Given the description of an element on the screen output the (x, y) to click on. 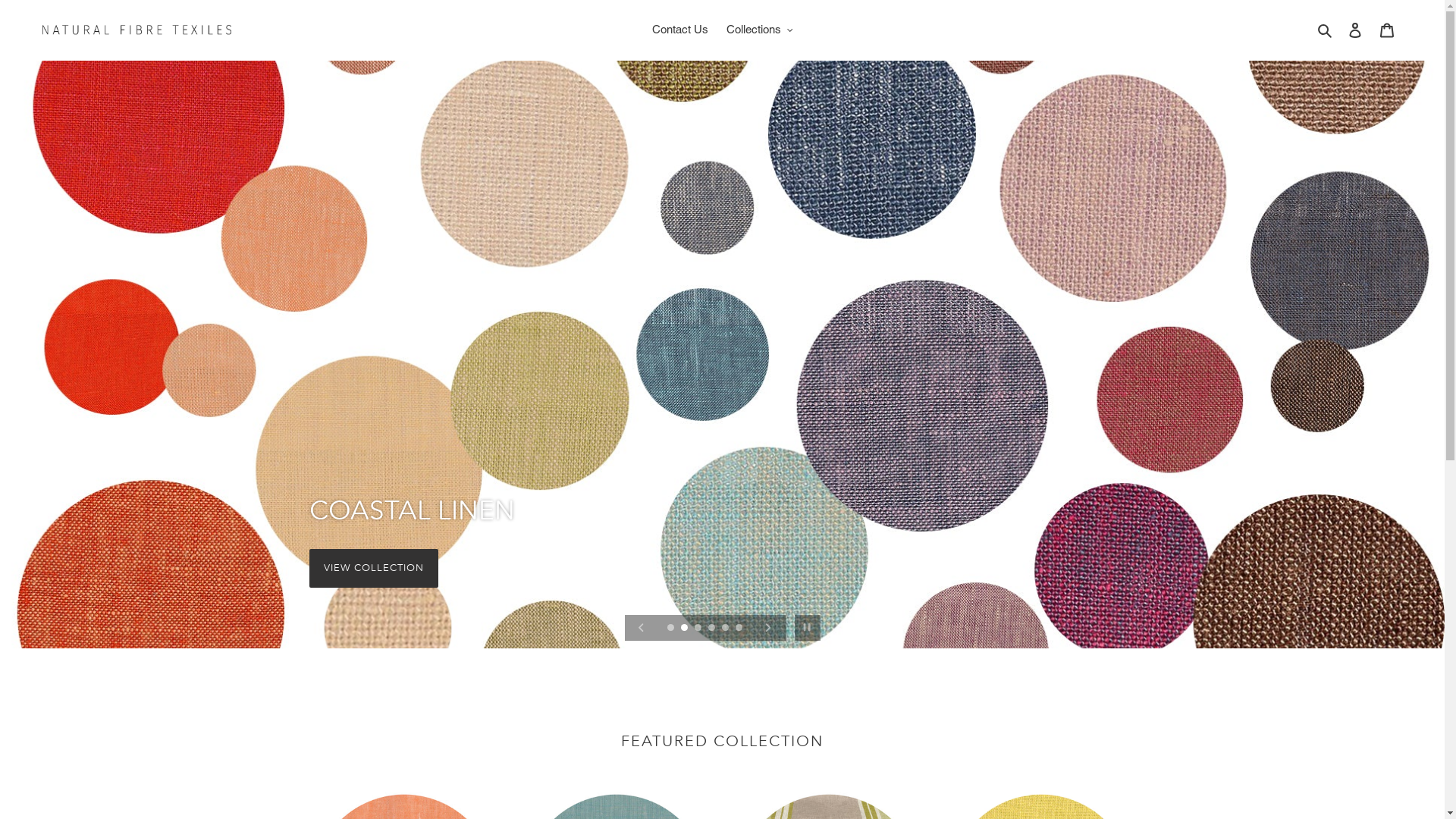
Cart Element type: text (1386, 29)
Search Element type: text (1325, 29)
Pause slideshow Element type: text (806, 627)
Collections Element type: text (759, 29)
Log in Element type: text (1355, 29)
Contact Us Element type: text (679, 29)
VIEW COLLECTION Element type: text (374, 568)
